Given the description of an element on the screen output the (x, y) to click on. 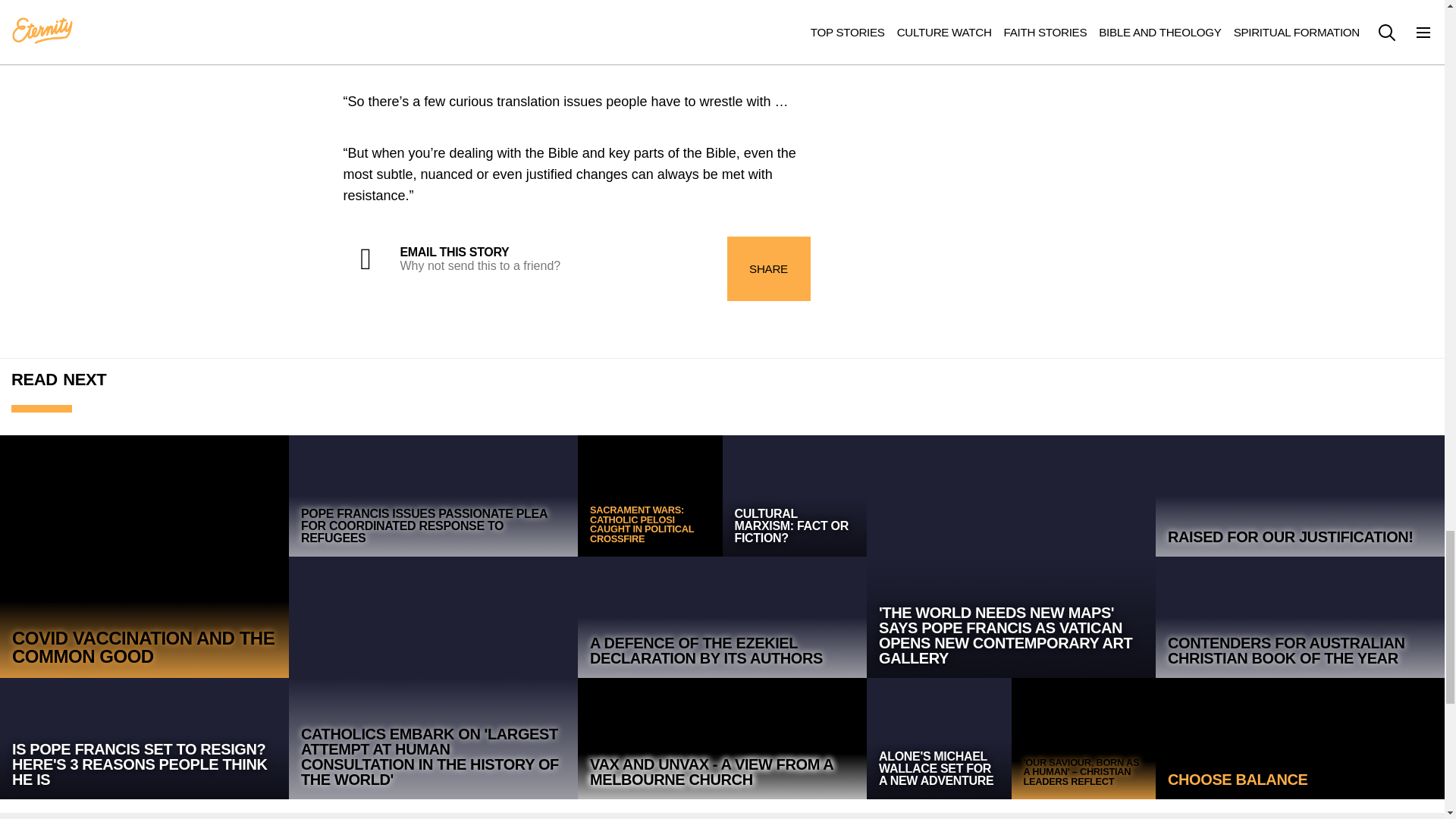
SHARE (767, 268)
